Given the description of an element on the screen output the (x, y) to click on. 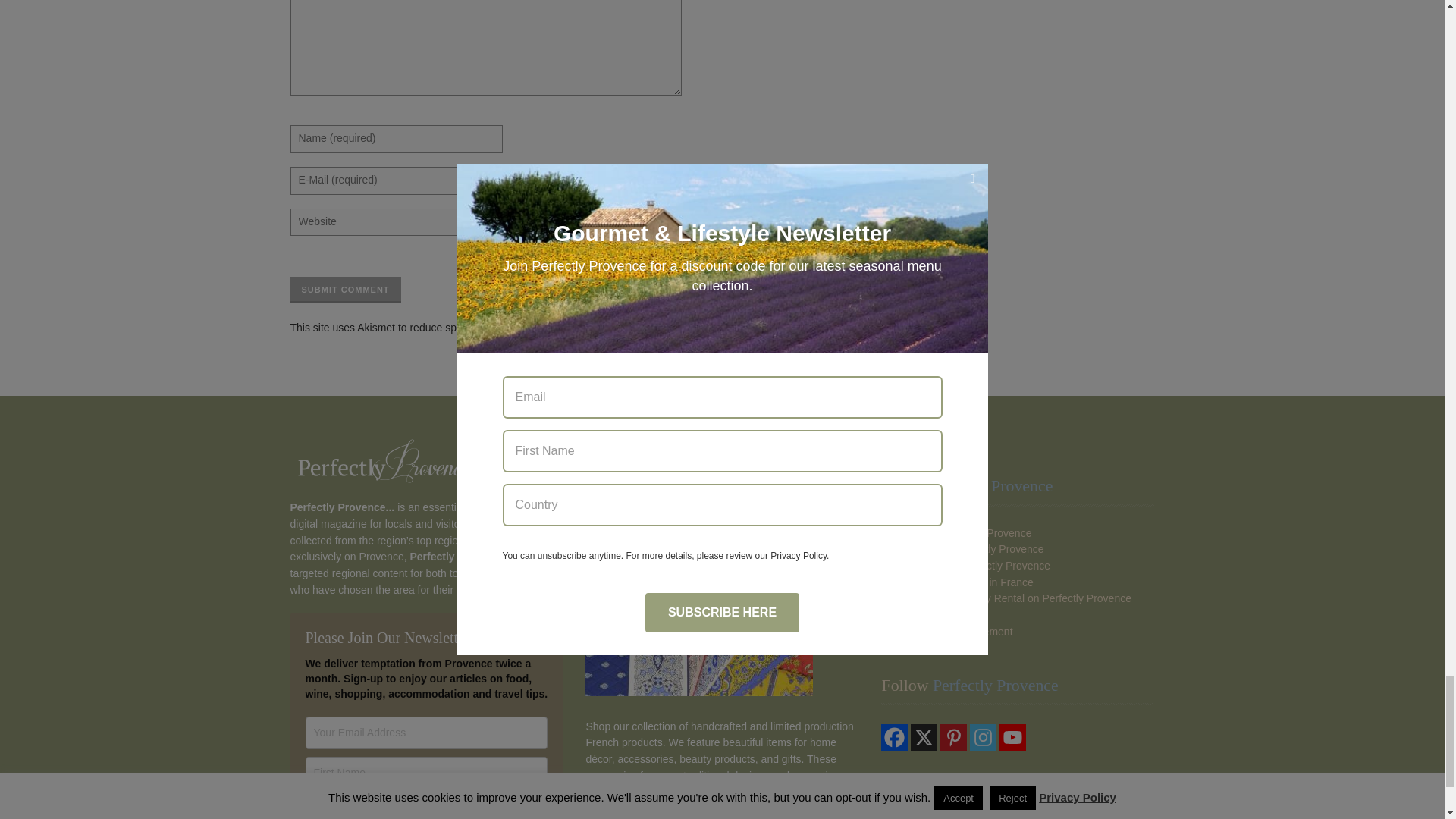
Submit comment (344, 289)
